Given the description of an element on the screen output the (x, y) to click on. 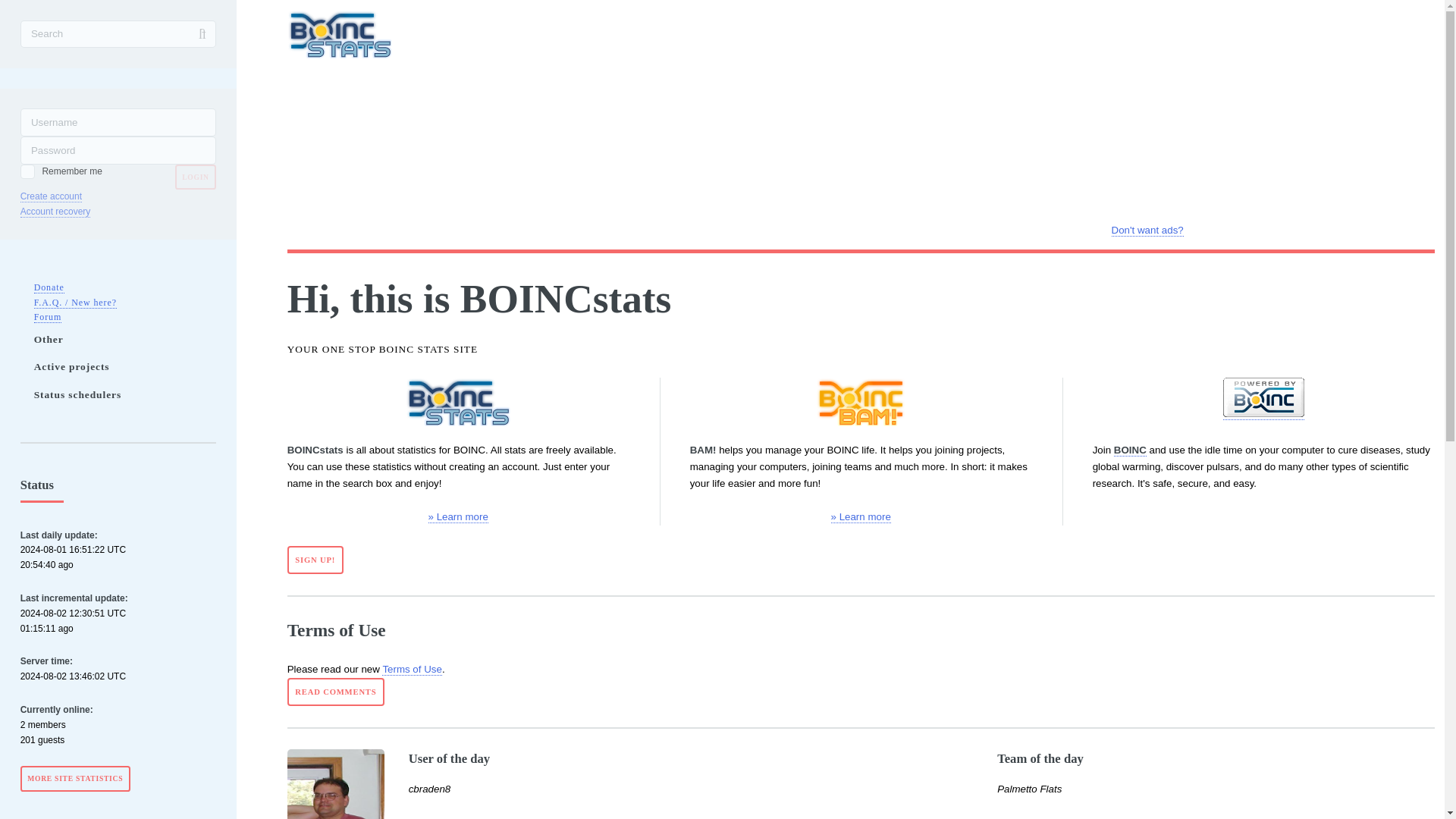
Active projects (124, 366)
SIGN UP! (314, 560)
Don't want ads? (1147, 230)
Advertisement (1147, 115)
Create account (50, 196)
BOINC (1130, 450)
Login (195, 177)
READ COMMENTS (335, 691)
Donate (48, 287)
Terms of Use (411, 669)
Login (195, 177)
Account recovery (55, 211)
Other (124, 338)
Forum (47, 317)
